Given the description of an element on the screen output the (x, y) to click on. 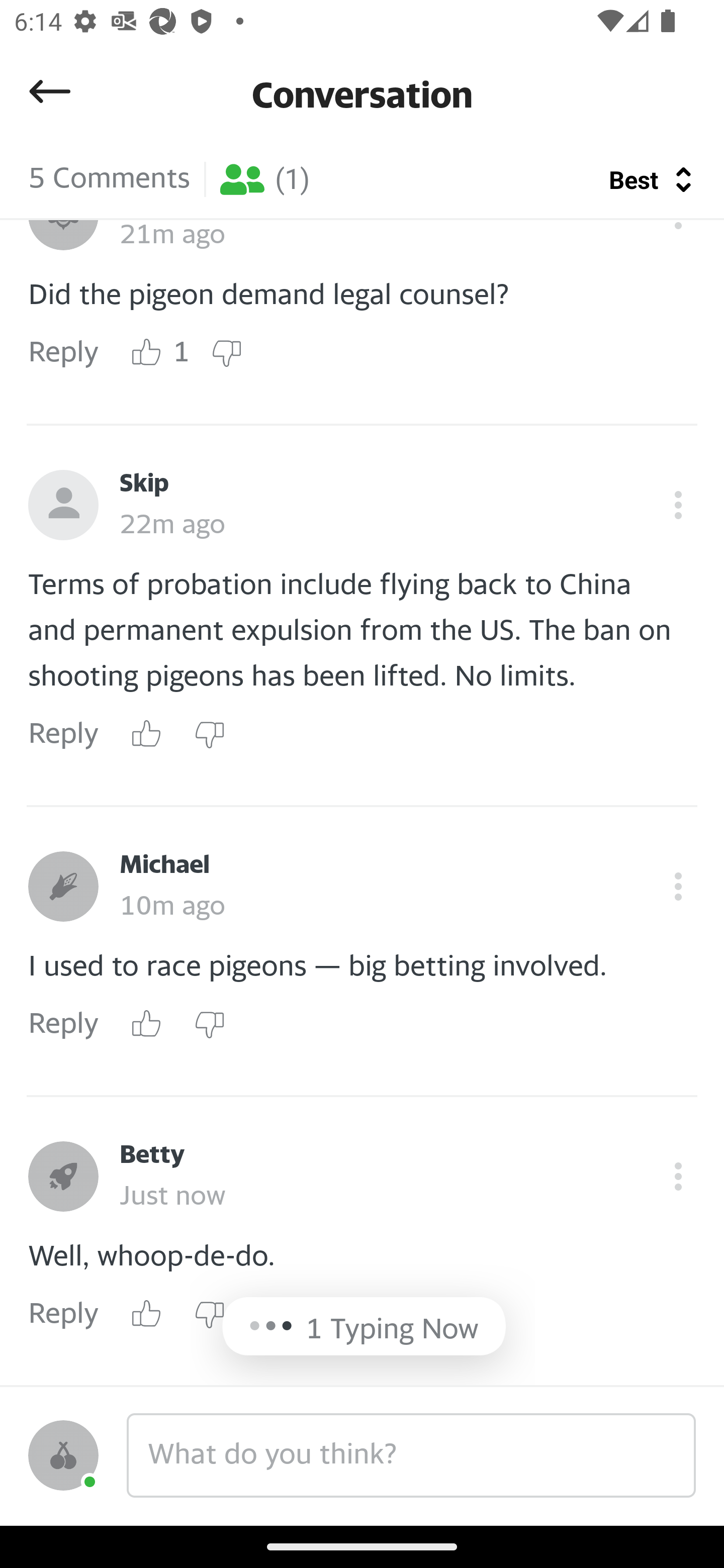
Best (635, 179)
Reply (62, 352)
Up vote button Up vote button Up vote button (146, 352)
Down vote button Down vote button Down vote button (226, 352)
Profile image (63, 505)
Options menu (677, 505)
Skip (143, 484)
Reply (62, 735)
Up vote button Up vote button Up vote button (146, 734)
Down vote button Down vote button Down vote button (209, 734)
Profile image (63, 886)
Options menu (677, 886)
Michael (164, 865)
Reply (62, 1024)
Up vote button Up vote button Up vote button (146, 1024)
Down vote button Down vote button Down vote button (209, 1024)
Profile image (63, 1176)
Options menu (677, 1176)
Betty (152, 1155)
Reply (62, 1314)
Up vote button Up vote button Up vote button (146, 1313)
Down vote button Down vote button Down vote button (209, 1313)
What do you think? (410, 1454)
Profile image (63, 1455)
